Given the description of an element on the screen output the (x, y) to click on. 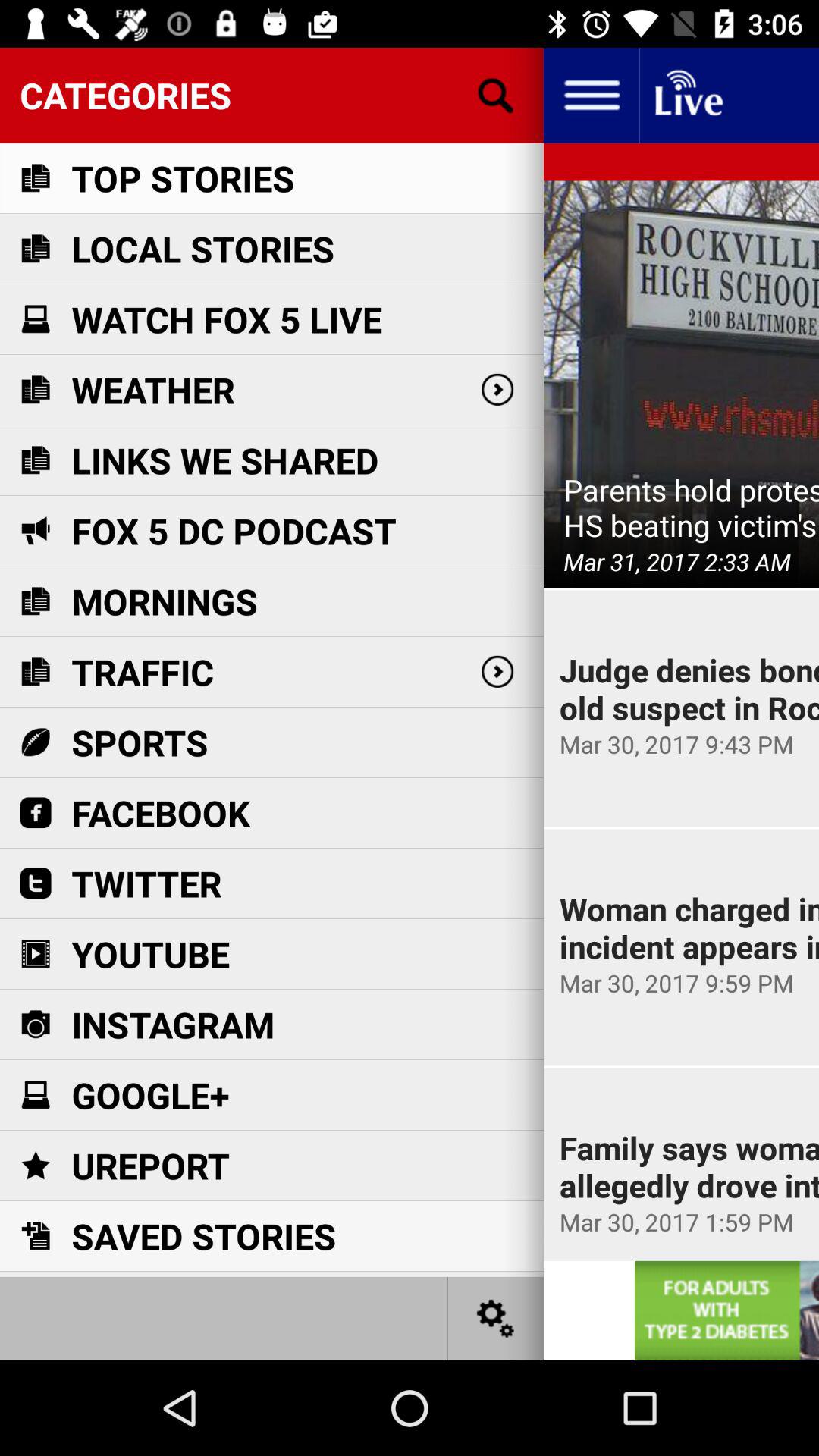
advertisement image (726, 1310)
